Given the description of an element on the screen output the (x, y) to click on. 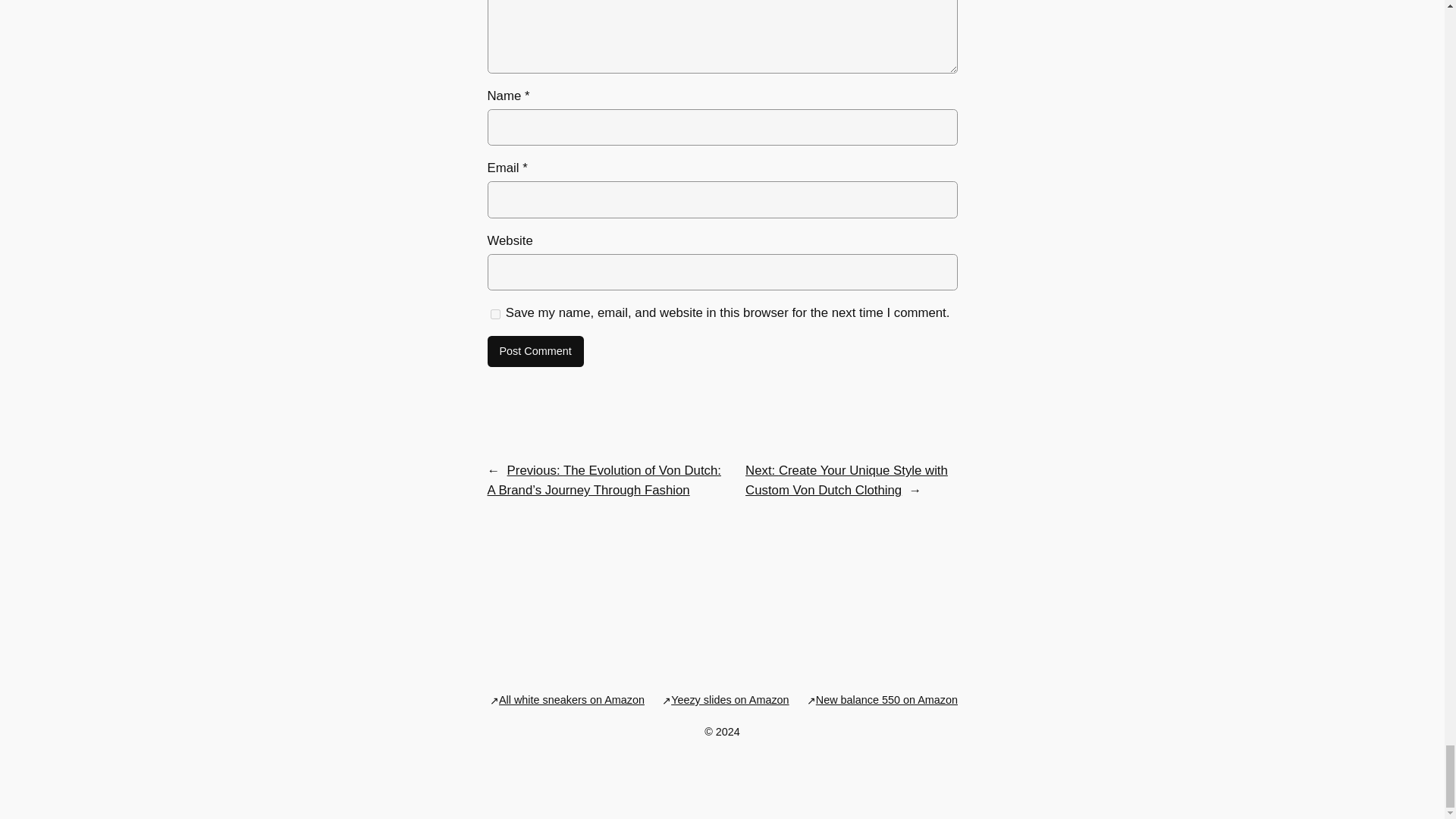
Post Comment (534, 351)
Post Comment (534, 351)
Yeezy slides on Amazon (730, 699)
New balance 550 on Amazon (886, 699)
All white sneakers on Amazon (572, 699)
